Given the description of an element on the screen output the (x, y) to click on. 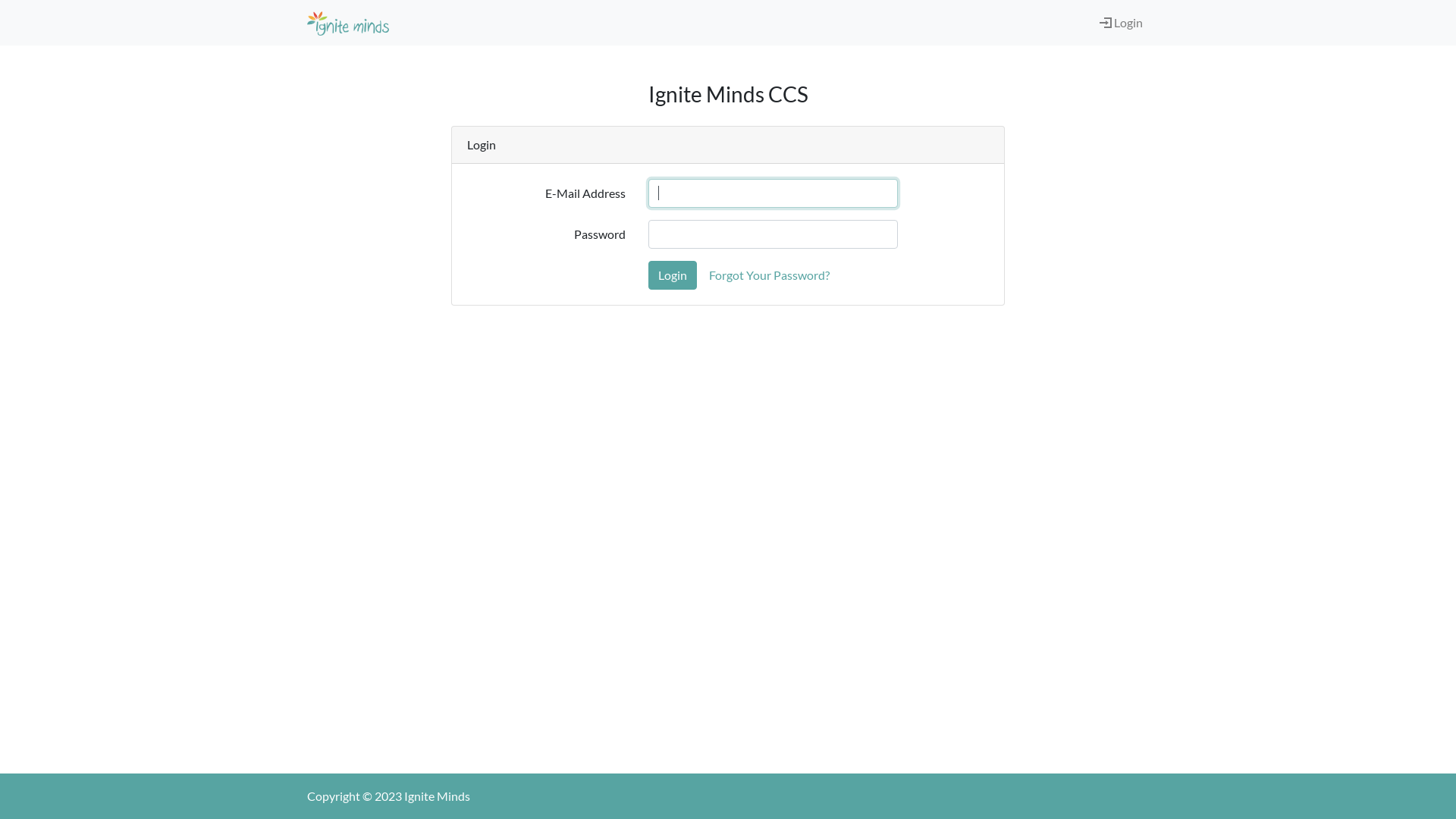
Login Element type: text (1120, 22)
Forgot Your Password? Element type: text (769, 274)
Login Element type: text (672, 274)
Login Element type: hover (1105, 21)
